Given the description of an element on the screen output the (x, y) to click on. 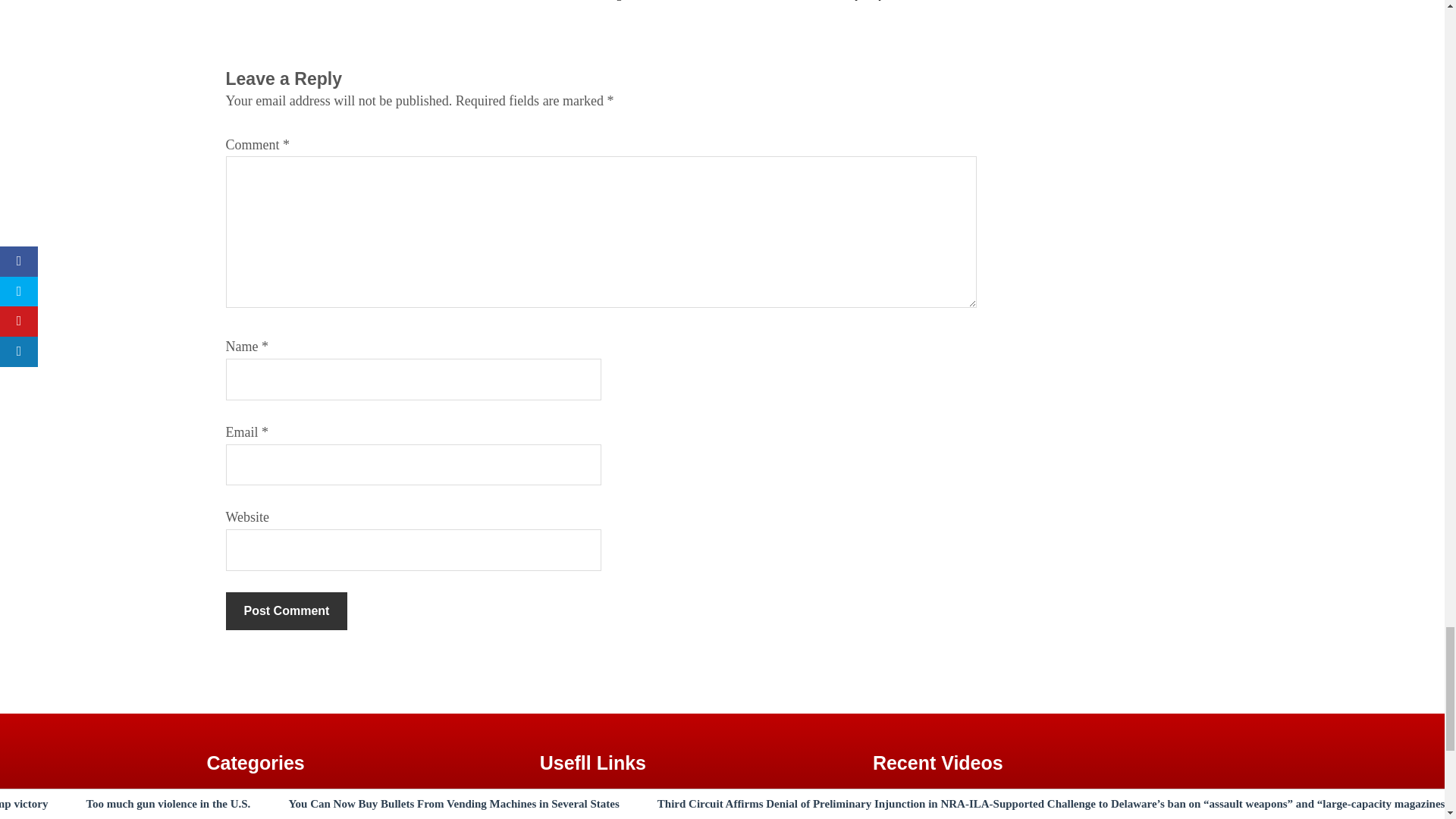
Post Comment (286, 610)
